Given the description of an element on the screen output the (x, y) to click on. 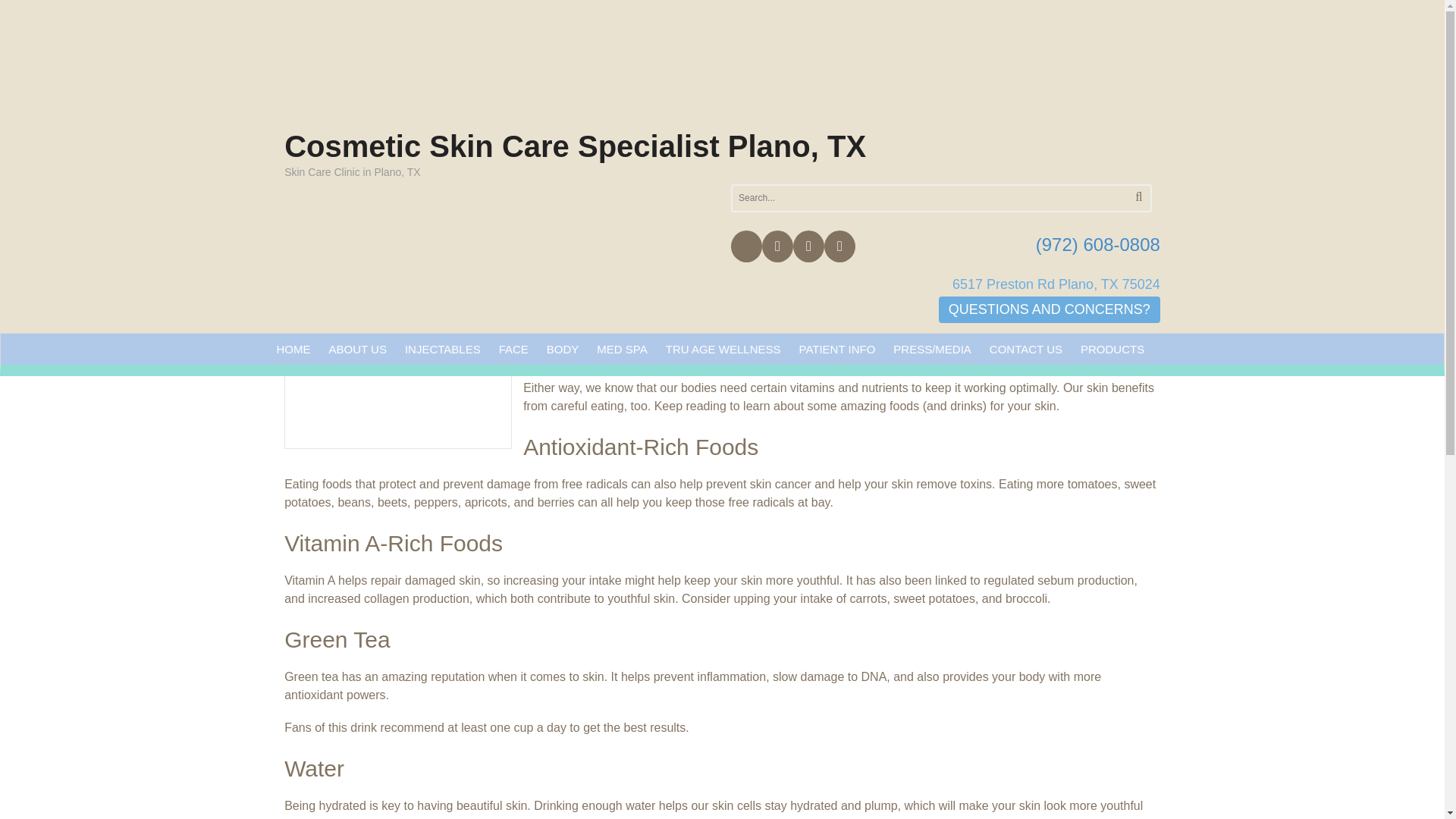
View all items in MedSpa Services (398, 267)
QUESTIONS AND CONCERNS? (1049, 309)
View all items in Skin Care (461, 267)
INJECTABLES (442, 348)
Skin Care Clinic in Plano, TX (530, 69)
ABOUT US (358, 348)
Search... (909, 197)
Cosmetic Skin Care Specialist Plano, TX (574, 145)
HOME (292, 348)
